Given the description of an element on the screen output the (x, y) to click on. 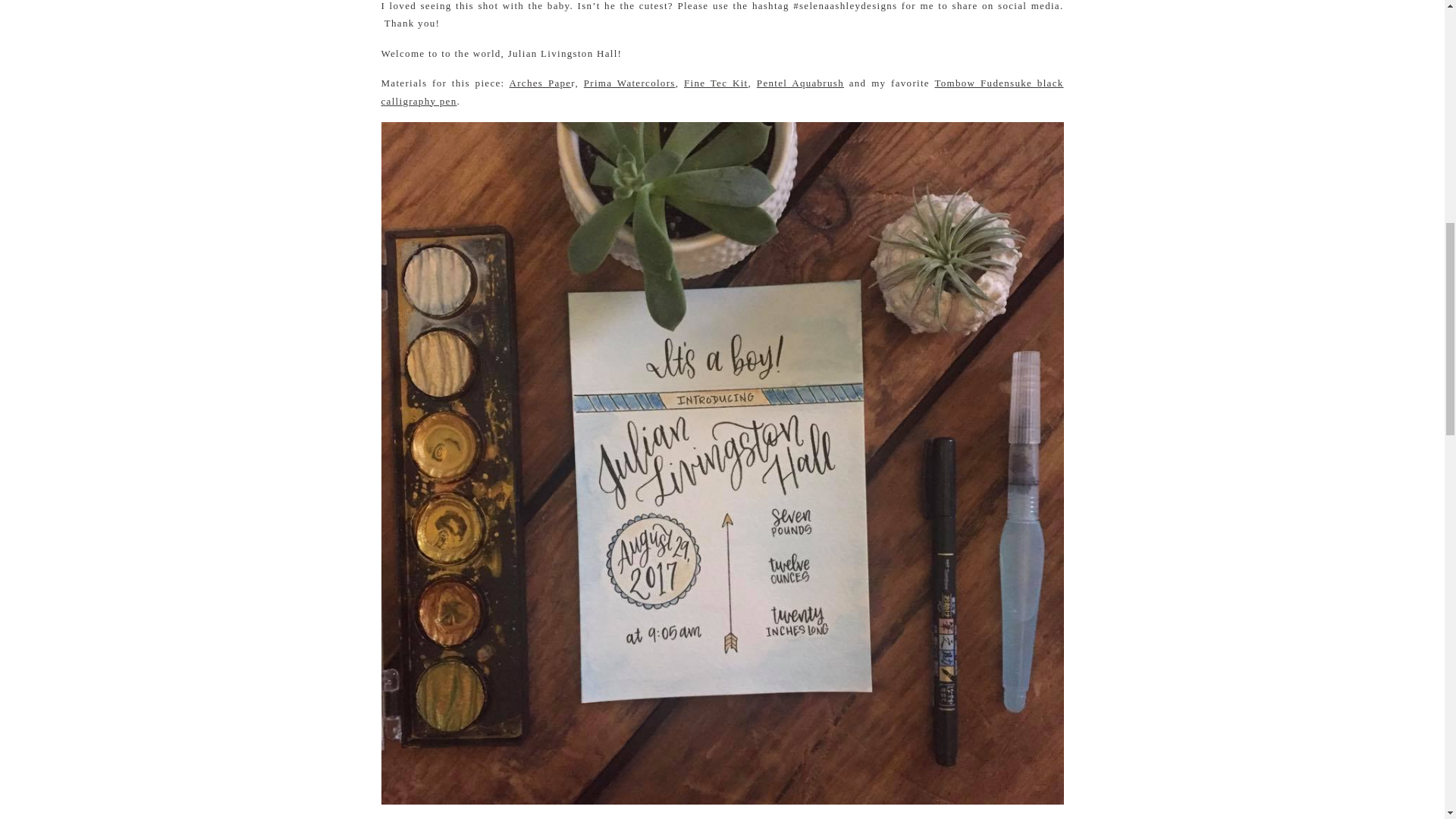
Pentel Aquabrush (800, 82)
Tombow Fudensuke black calligraphy pen (721, 91)
Prima Watercolors (629, 82)
Fine Tec Kit (716, 82)
Arches Pape (540, 82)
